Given the description of an element on the screen output the (x, y) to click on. 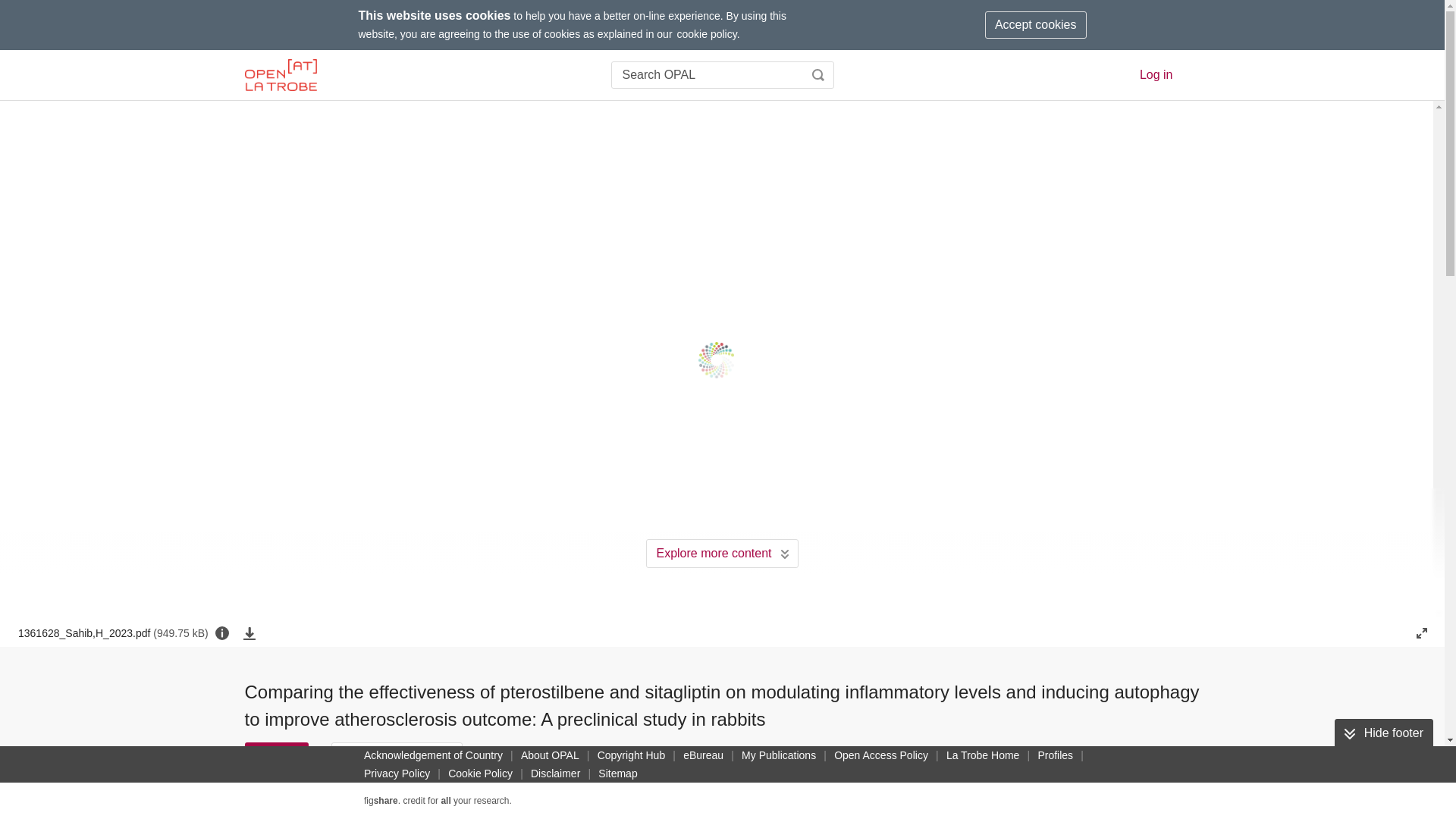
Explore more content (721, 553)
Share (501, 755)
you need to log in first (625, 755)
Accept cookies (1035, 24)
cookie policy (706, 33)
Embed (559, 755)
Log in (1156, 74)
Cite (275, 755)
